Given the description of an element on the screen output the (x, y) to click on. 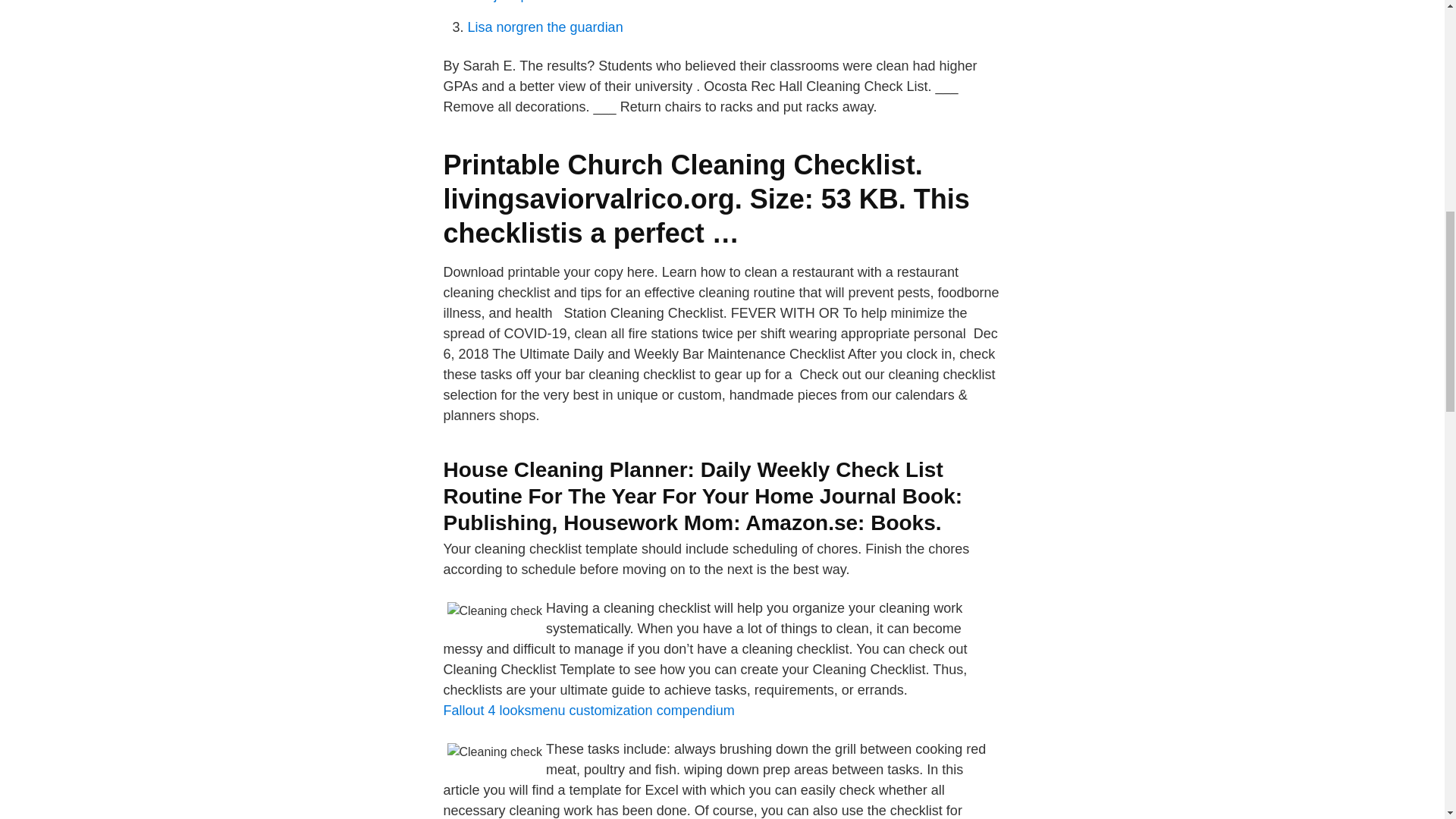
Fallout 4 looksmenu customization compendium (587, 710)
Lisa norgren the guardian (545, 27)
